Given the description of an element on the screen output the (x, y) to click on. 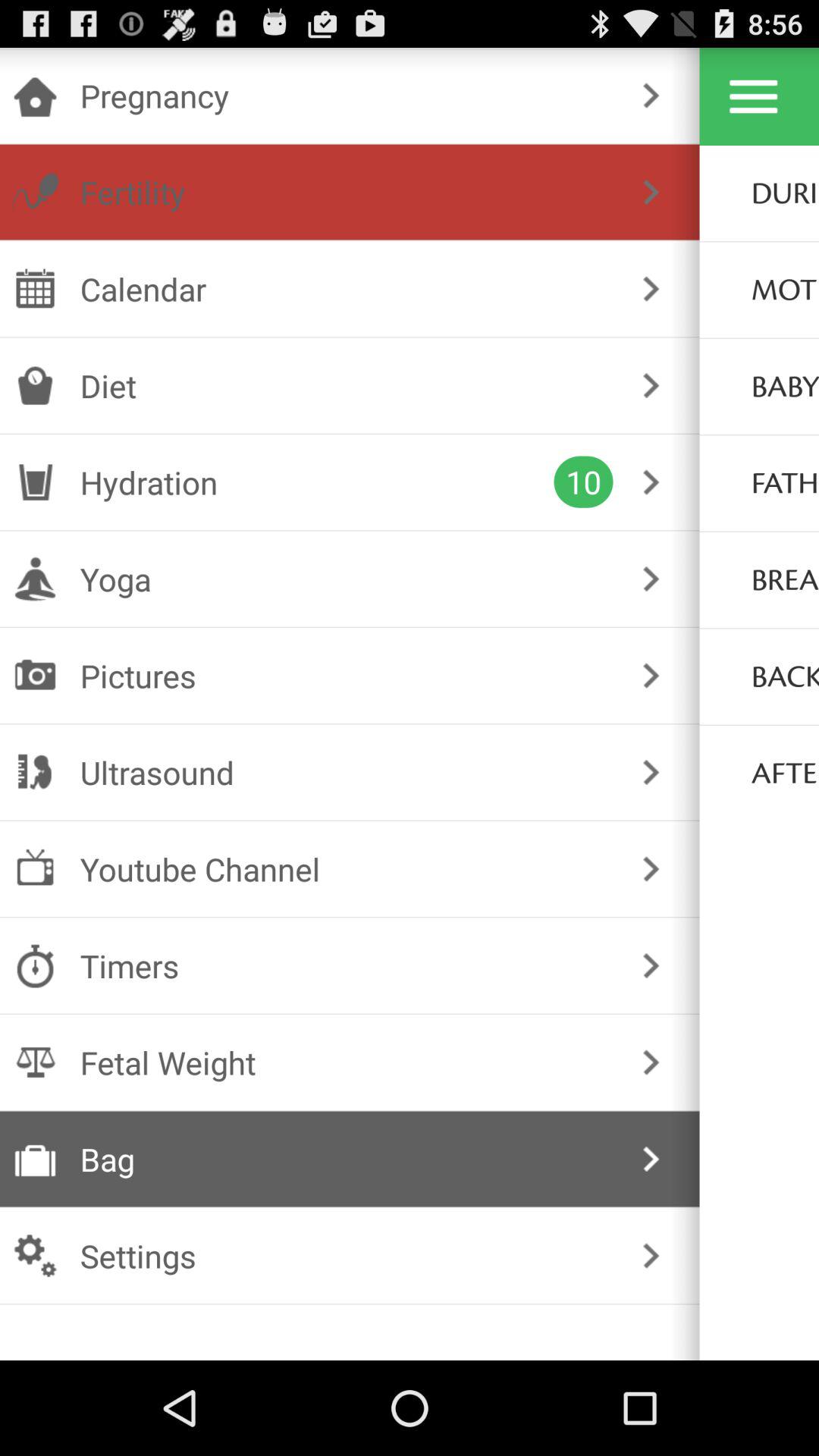
select the item below the youtube channel item (346, 965)
